Given the description of an element on the screen output the (x, y) to click on. 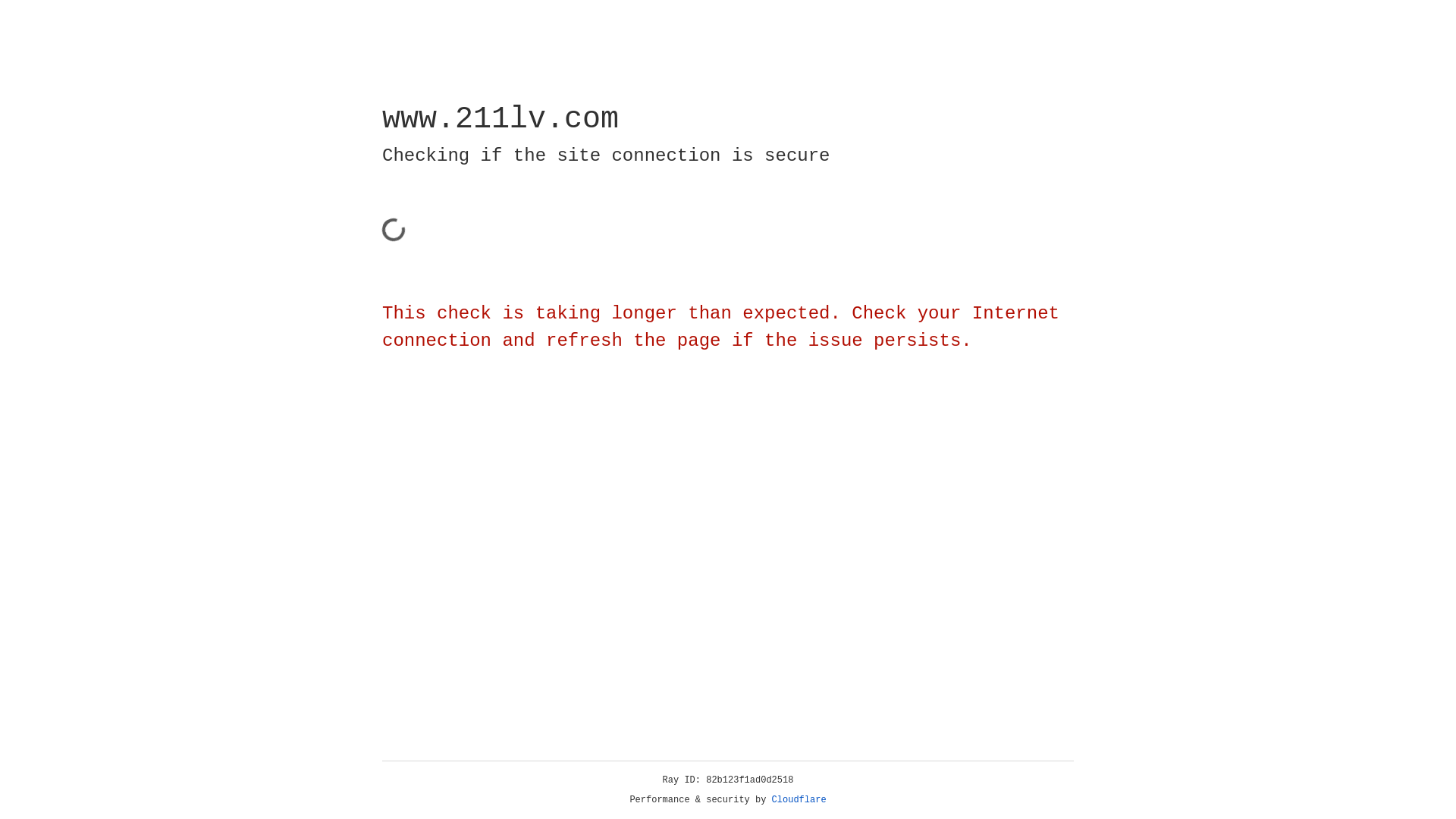
Cloudflare Element type: text (798, 799)
